Given the description of an element on the screen output the (x, y) to click on. 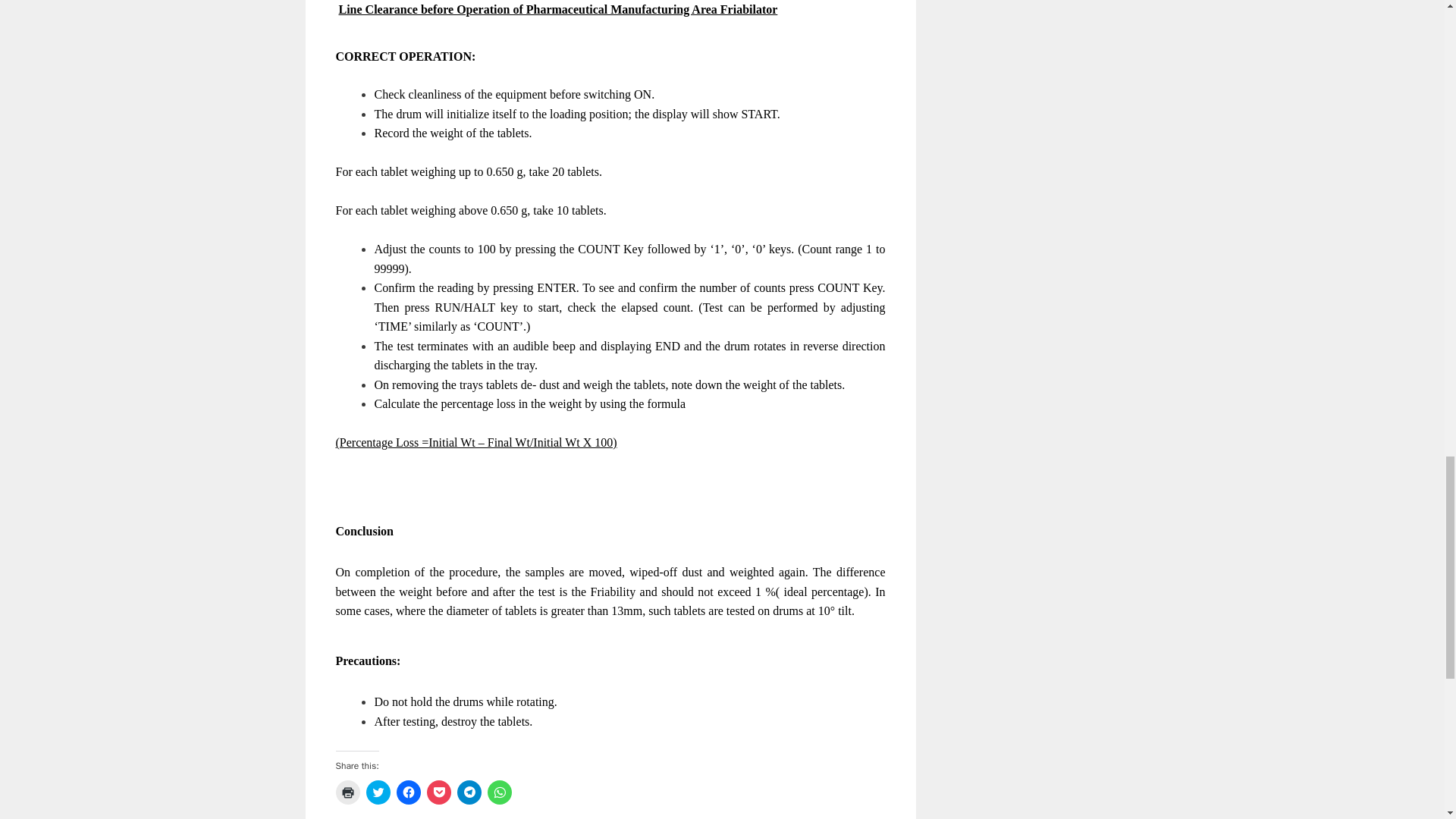
Click to share on Twitter (377, 792)
Click to share on Telegram (468, 792)
Click to share on Facebook (408, 792)
Click to print (346, 792)
Click to share on Pocket (437, 792)
Click to share on WhatsApp (498, 792)
